Given the description of an element on the screen output the (x, y) to click on. 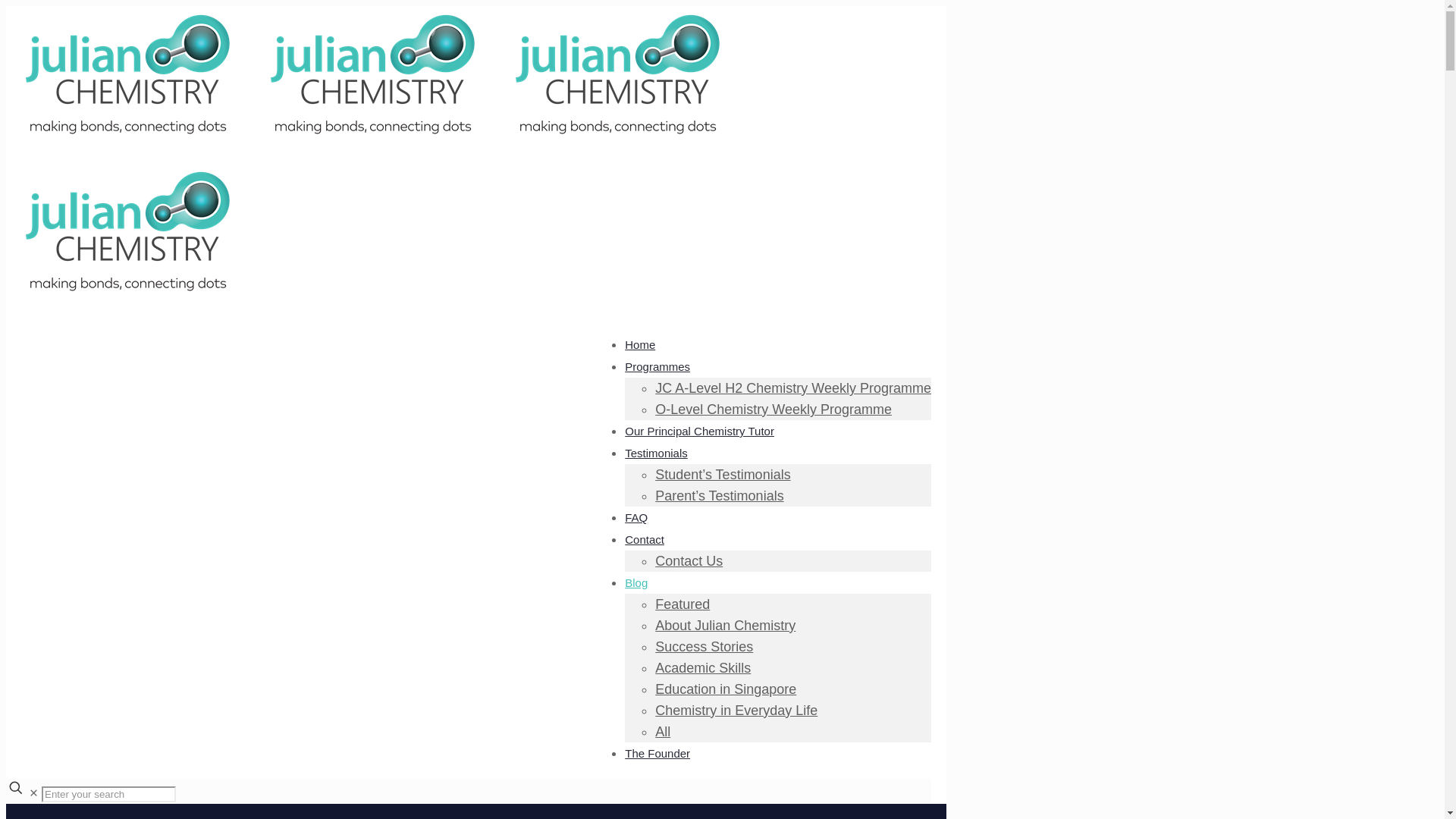
Contact Us (688, 560)
Academic Skills (703, 667)
Education in Singapore (725, 688)
About Julian Chemistry (724, 625)
Programmes (657, 366)
Contact (643, 539)
Our Principal Chemistry Tutor (699, 430)
Testimonials (655, 452)
Featured (682, 604)
The Founder (657, 753)
JC A-Level H2 Chemistry Weekly Programme (793, 387)
All (662, 731)
Success Stories (703, 646)
O-Level Chemistry Weekly Programme (773, 409)
Chemistry in Everyday Life (735, 710)
